Given the description of an element on the screen output the (x, y) to click on. 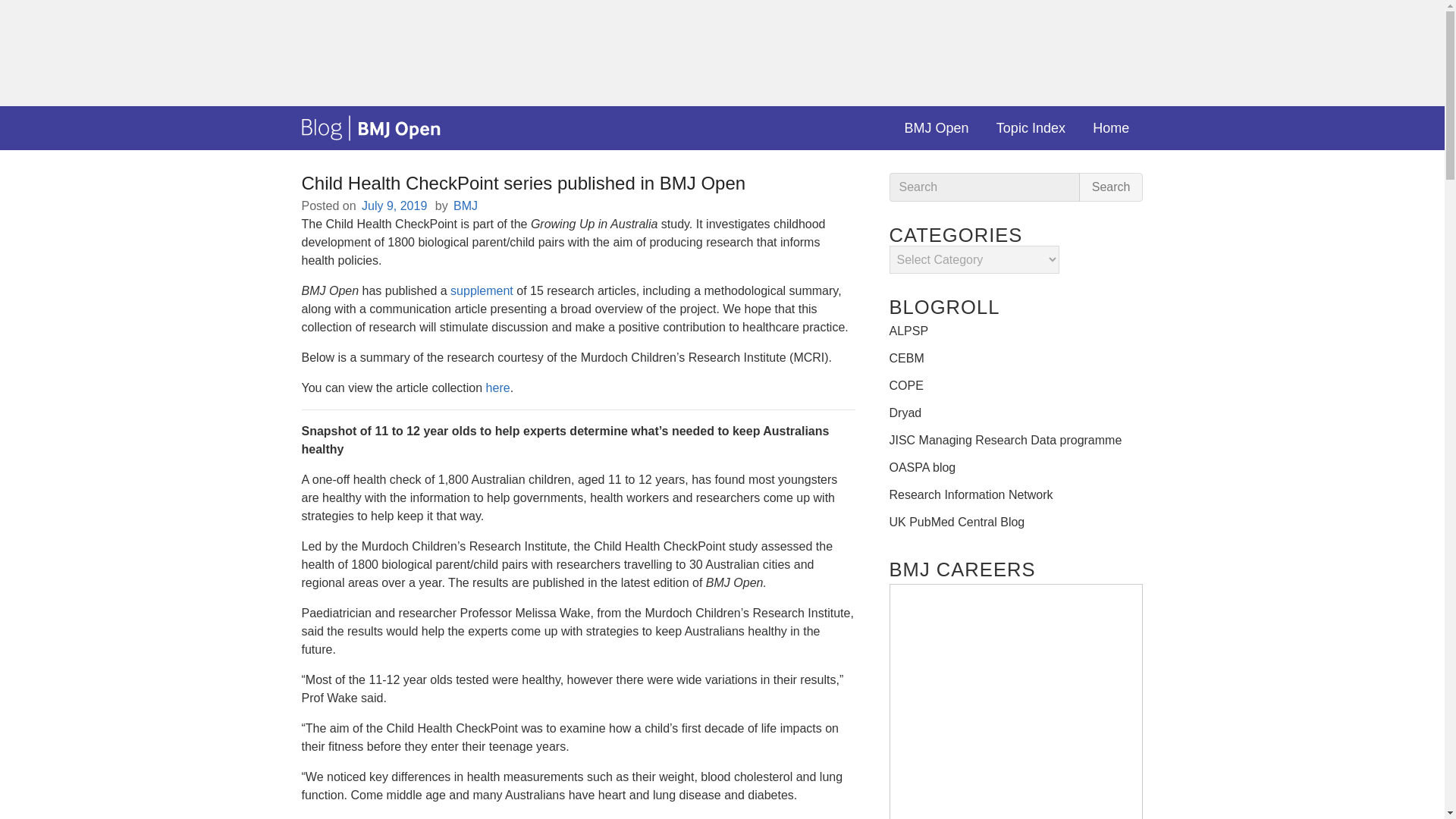
Home (1110, 127)
Topic Index (1031, 127)
BMJ (464, 205)
COPE (905, 385)
BMJ Open (935, 127)
OASPA blog (921, 467)
Topic Index (1031, 127)
here (498, 387)
JISC Managing Research Data programme (1004, 440)
Search (1110, 186)
